Given the description of an element on the screen output the (x, y) to click on. 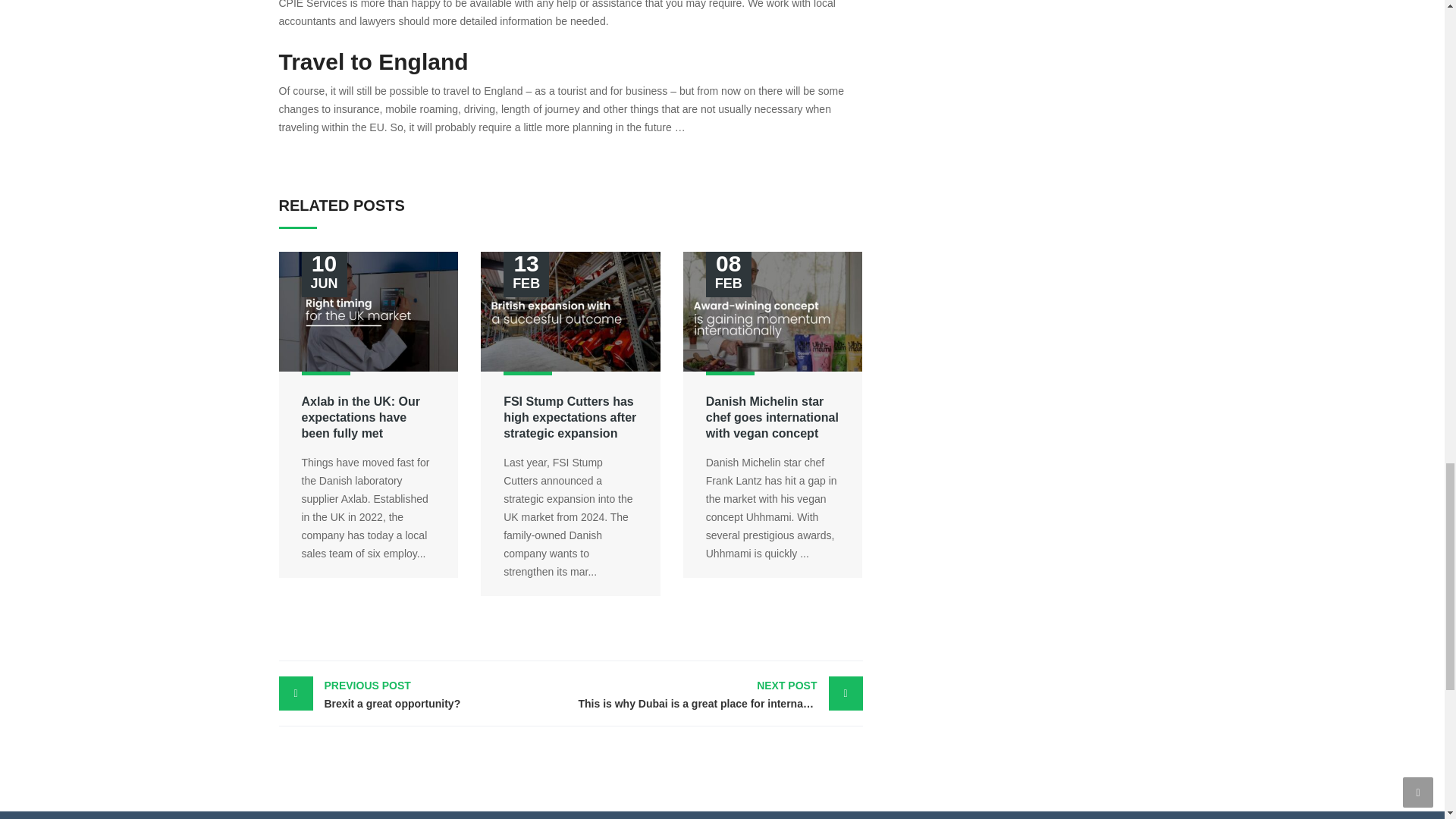
Axlab in the UK: Our expectations have been fully met (360, 416)
